Given the description of an element on the screen output the (x, y) to click on. 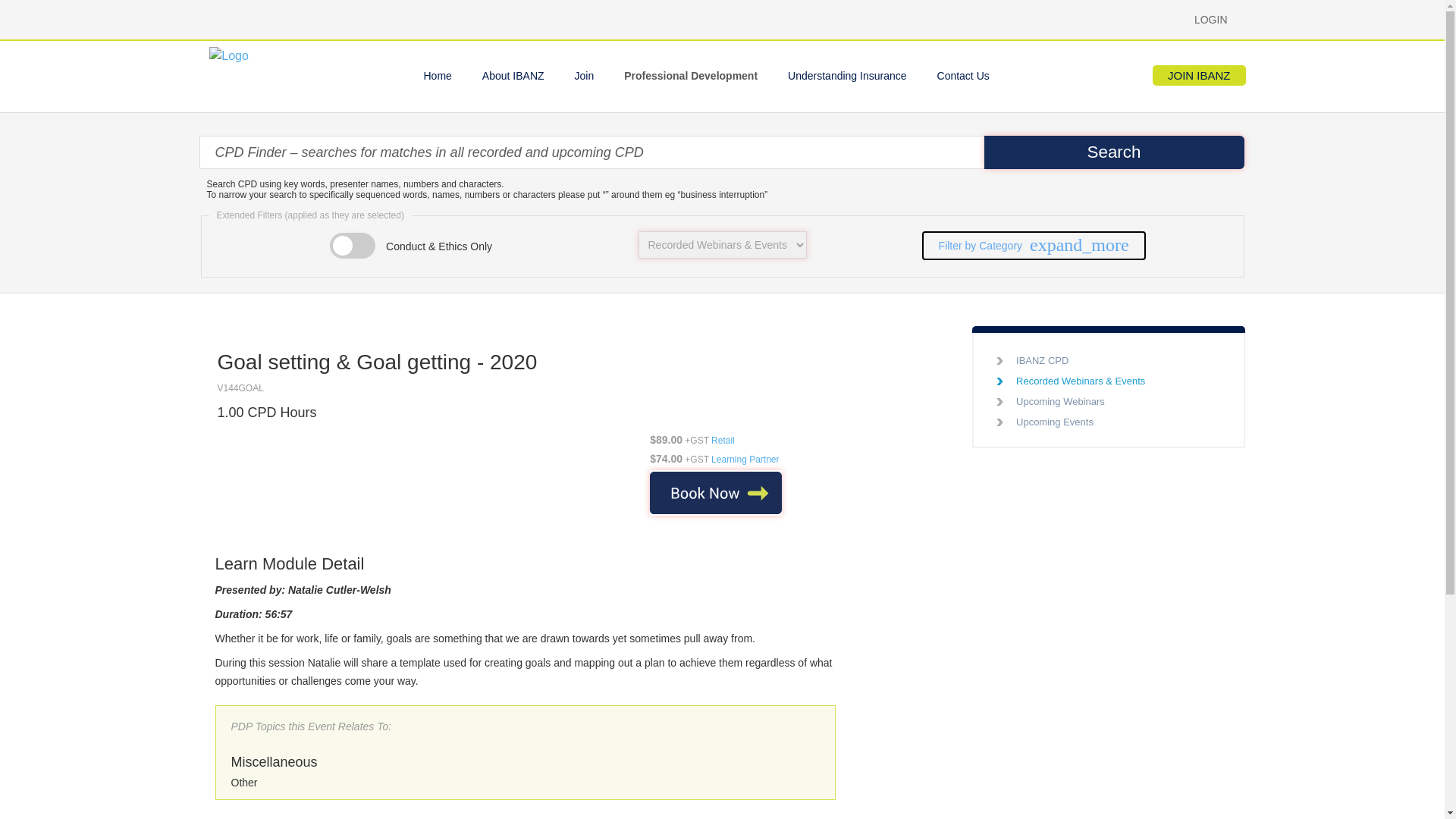
Contact Us (962, 75)
Understanding Insurance (847, 75)
Search (1114, 151)
Search (1114, 151)
Home (436, 75)
on (351, 240)
About IBANZ (513, 75)
Learning Partner (744, 459)
Retail (723, 439)
JOIN IBANZ (1199, 75)
